Given the description of an element on the screen output the (x, y) to click on. 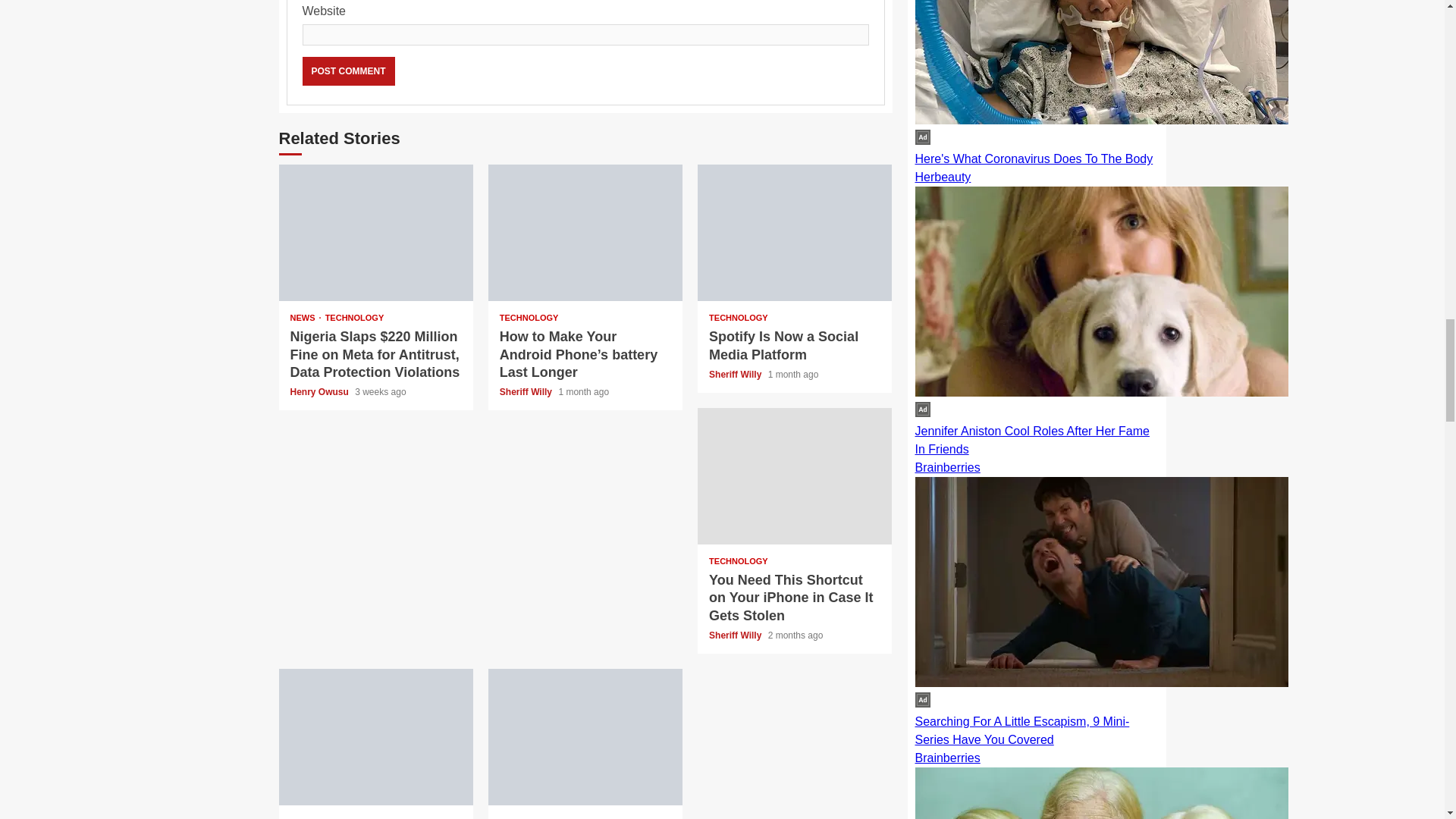
Sheriff Willy (526, 391)
TECHNOLOGY (738, 561)
TECHNOLOGY (319, 818)
You Need This Shortcut on Your iPhone in Case It Gets Stolen (794, 475)
Post Comment (347, 70)
Spotify Is Now a Social Media Platform (784, 345)
What Does CC and BCC Mean in Email? (376, 737)
Henry Owusu (319, 391)
Sheriff Willy (736, 374)
Post Comment (347, 70)
